Given the description of an element on the screen output the (x, y) to click on. 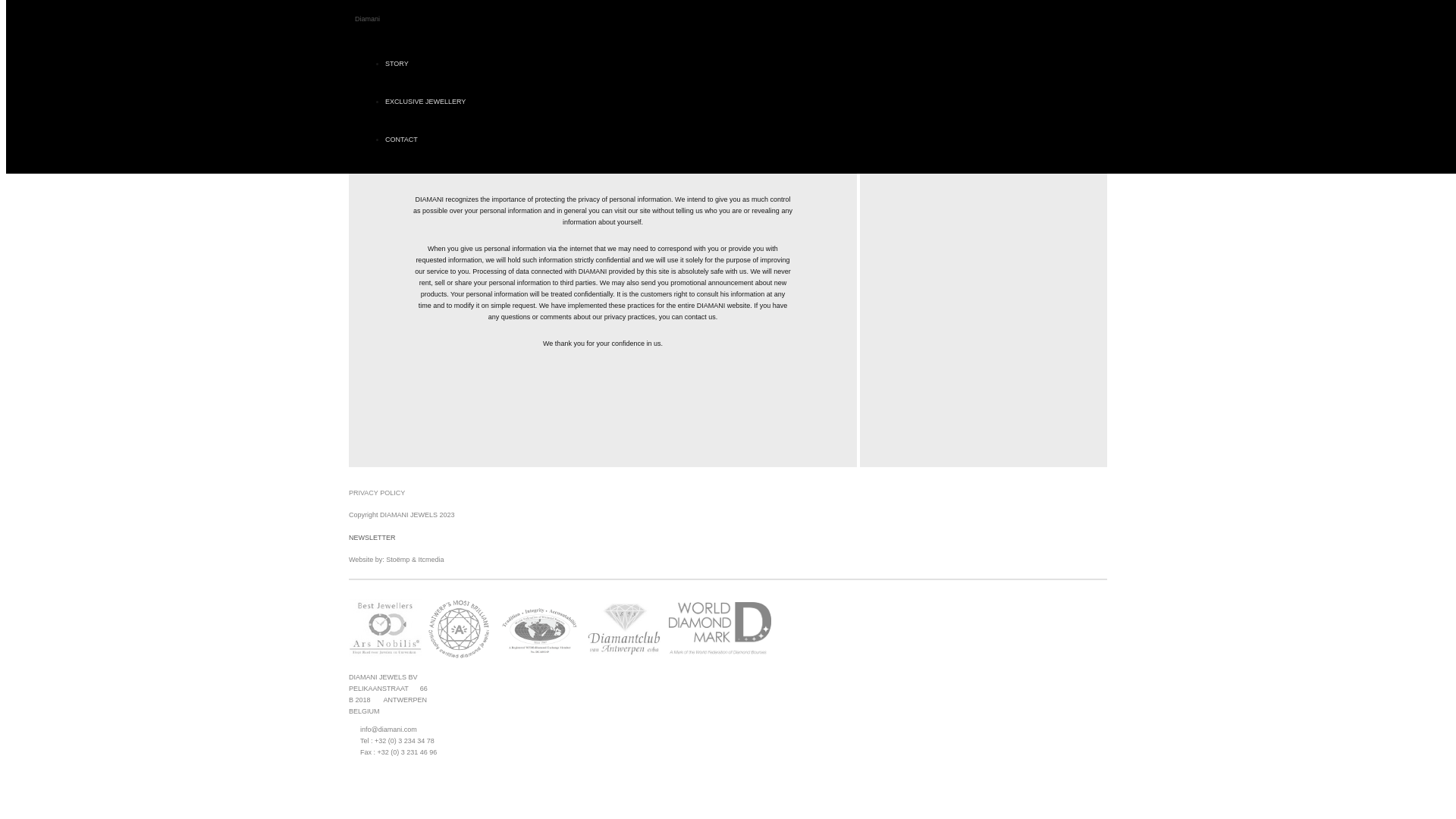
CONTACT (401, 139)
PRIVACY POLICY (376, 492)
Itcmedia (430, 559)
NEWSLETTER (372, 537)
Diamani (367, 18)
EXCLUSIVE JEWELLERY (425, 101)
STORY (397, 63)
